Given the description of an element on the screen output the (x, y) to click on. 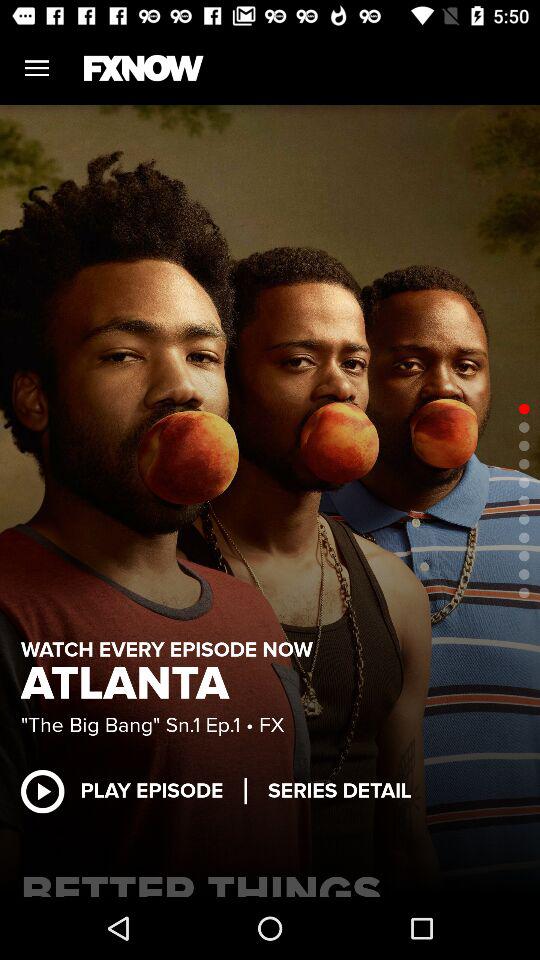
click item at the center (270, 500)
